Given the description of an element on the screen output the (x, y) to click on. 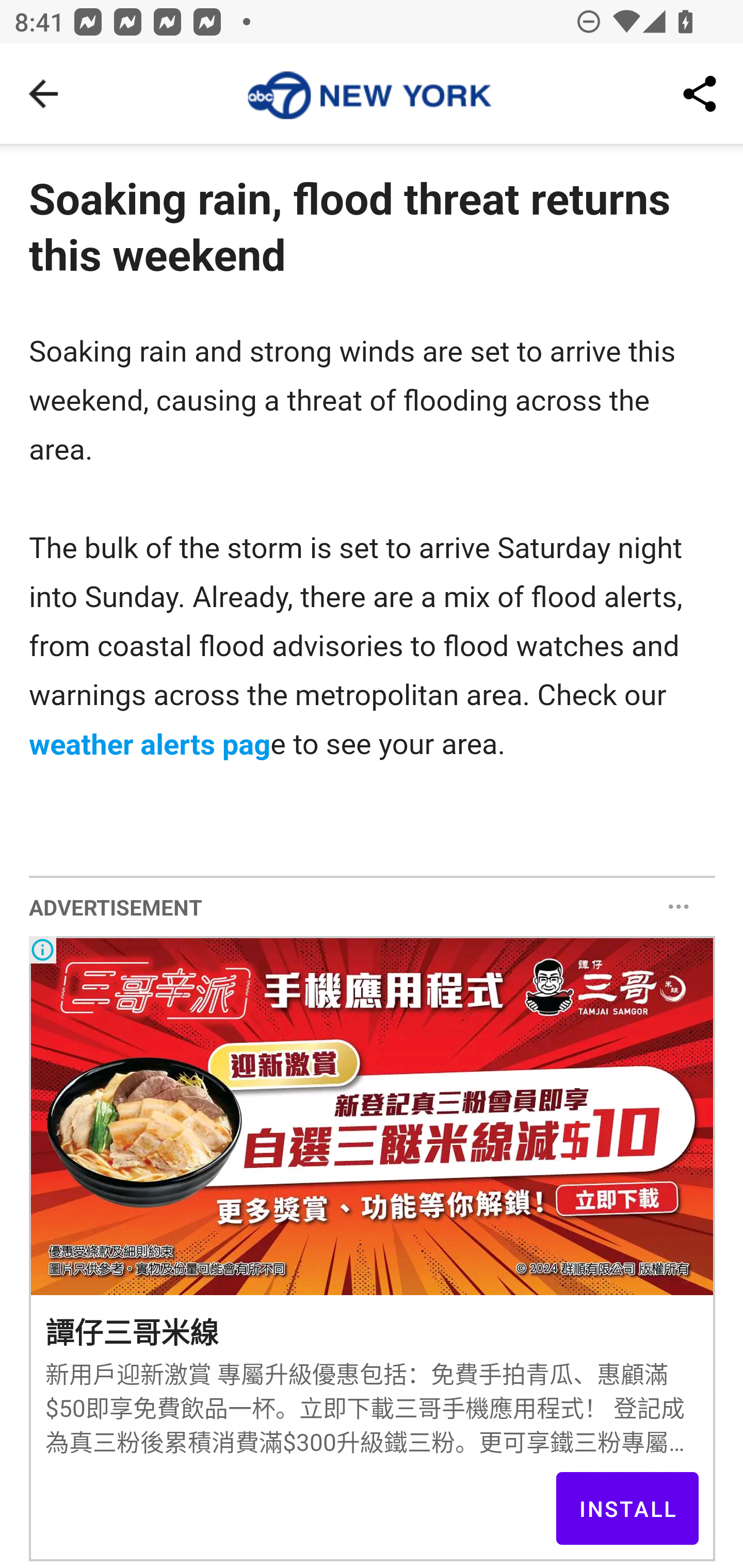
 weather alerts pag (149, 742)
